Given the description of an element on the screen output the (x, y) to click on. 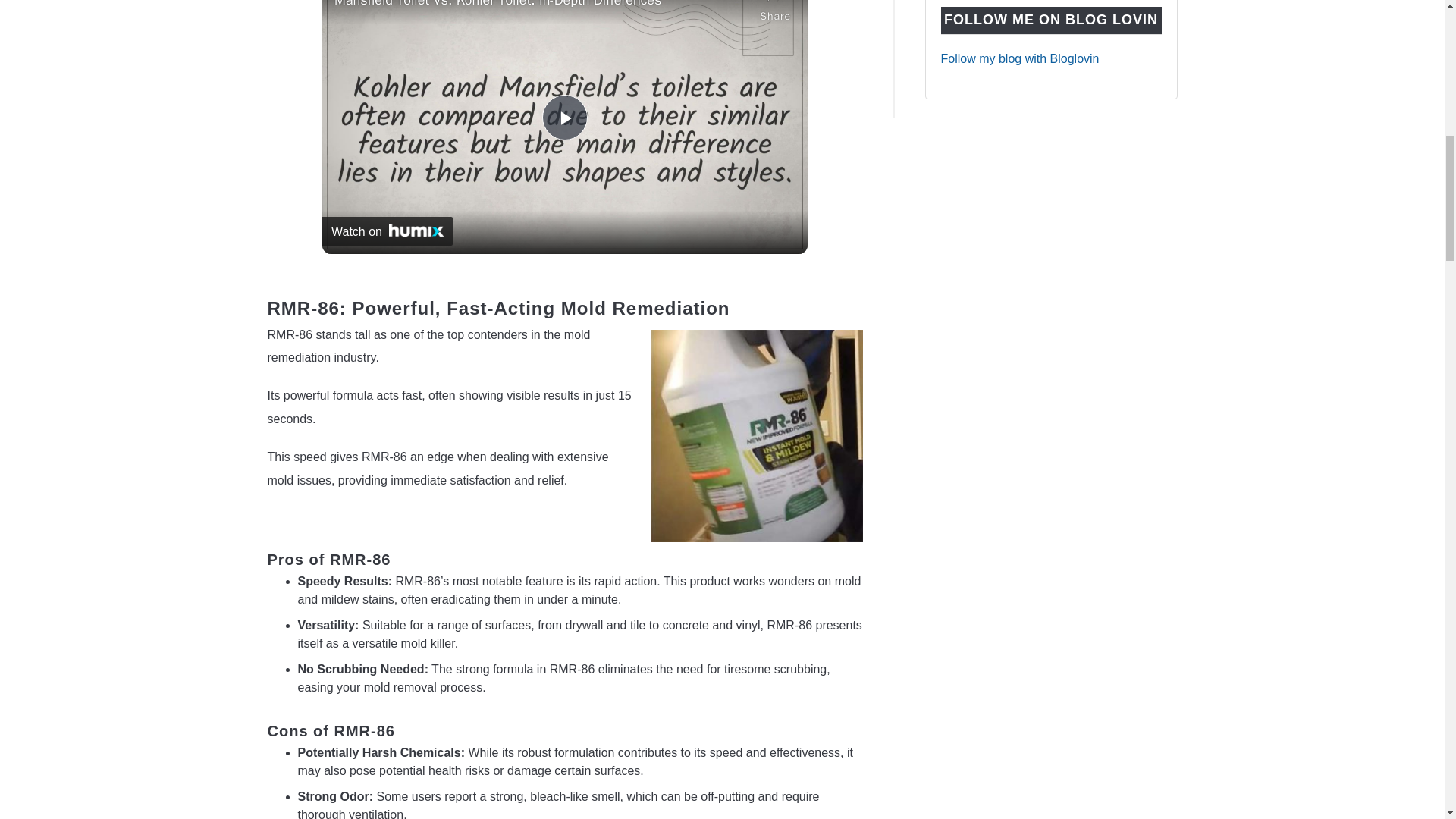
share (775, 12)
Mansfield Toilet Vs. Kohler Toilet: In-Depth Differences (543, 5)
Share (775, 12)
Watch on (386, 231)
Play Video (564, 117)
Play Video (564, 117)
